Given the description of an element on the screen output the (x, y) to click on. 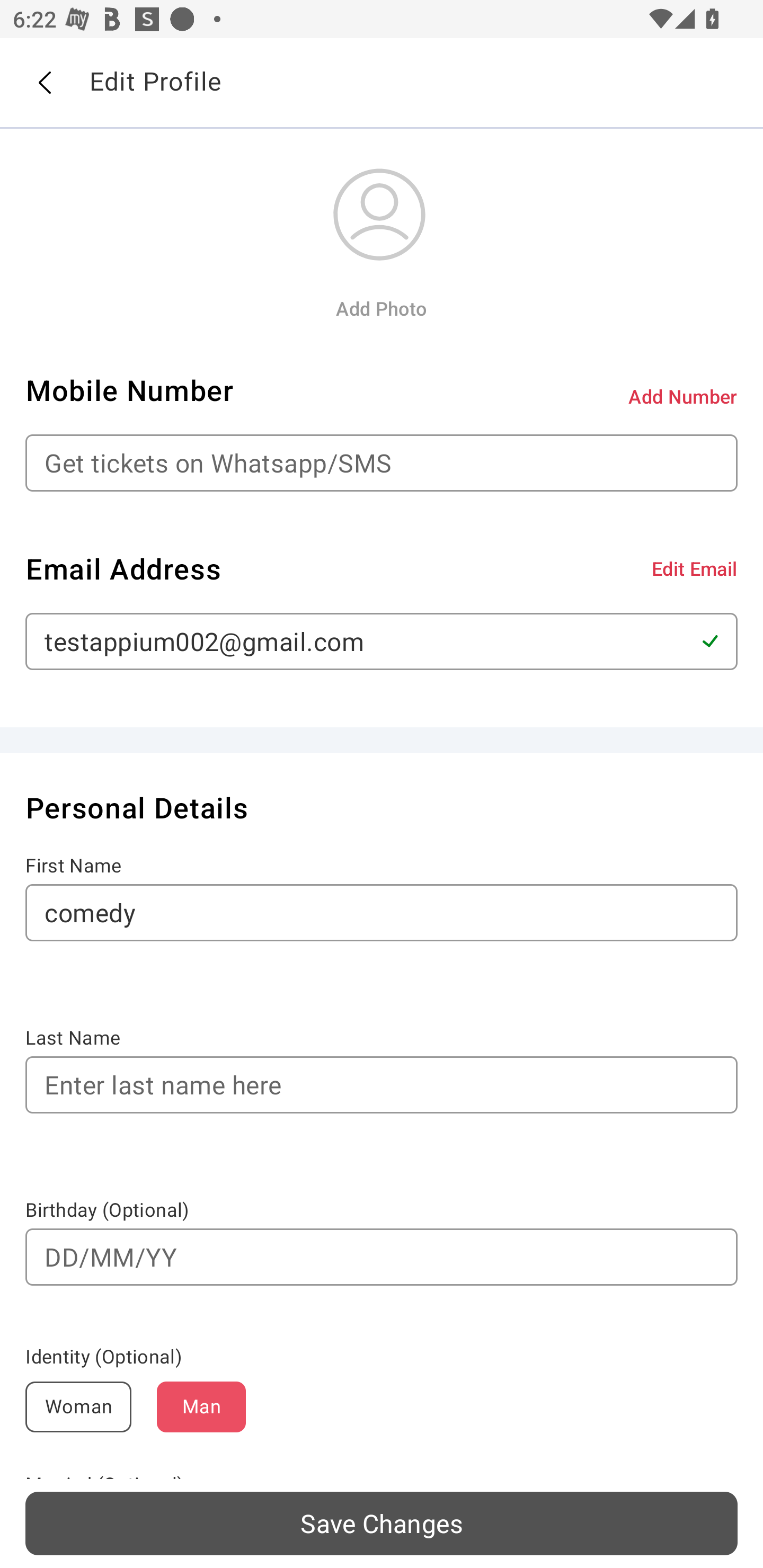
Back Edit Profile (381, 82)
Back (44, 82)
Add Photo (380, 307)
Add Number (682, 395)
Get tickets on Whatsapp/SMS (381, 463)
Edit Email (694, 568)
testappium002@gmail.com (381, 641)
comedy (381, 912)
Enter last name here (381, 1084)
DD/MM/YY (381, 1256)
Woman (78, 1407)
Man (201, 1407)
Save Changes (381, 1523)
